Given the description of an element on the screen output the (x, y) to click on. 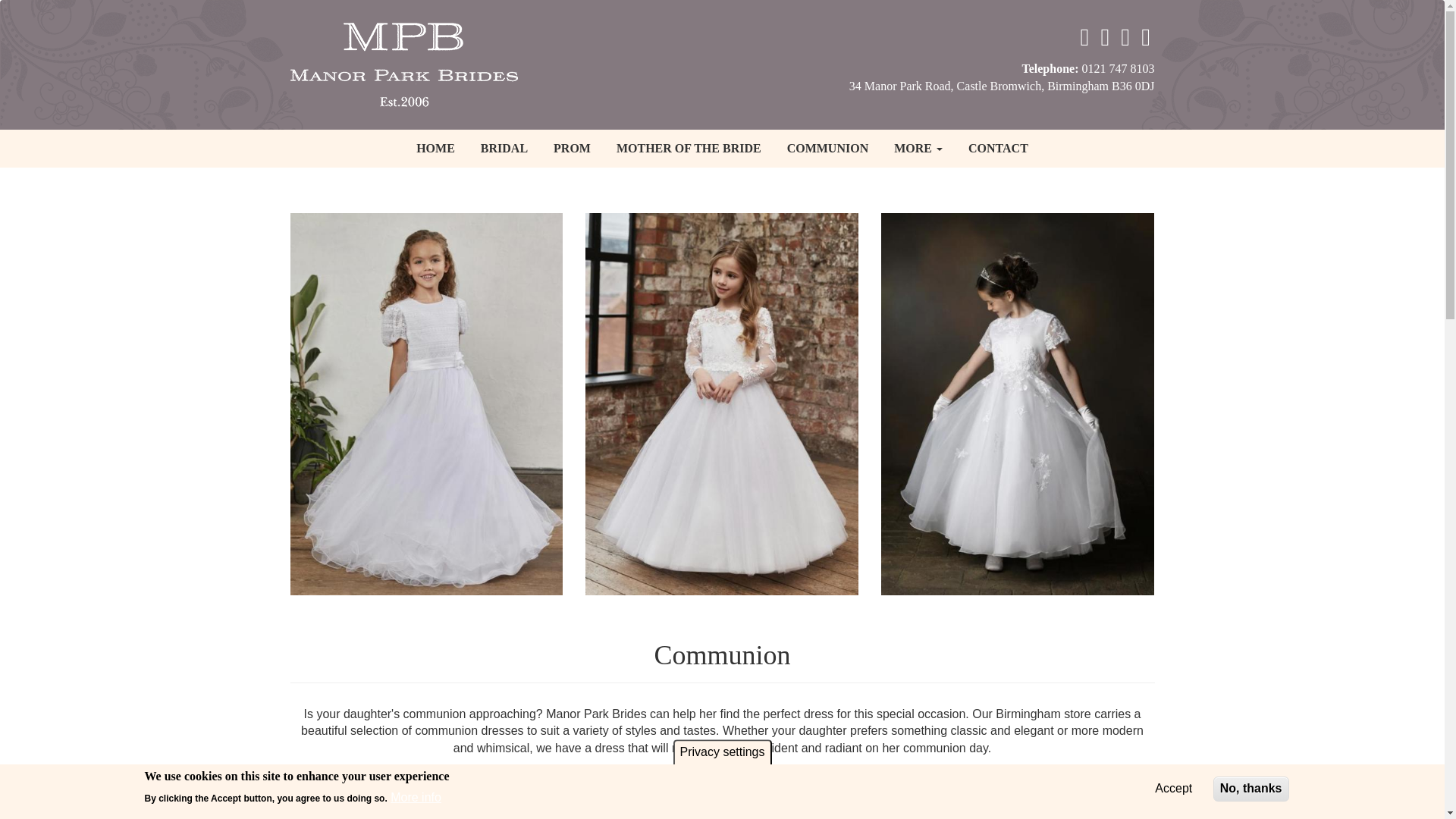
Accept (1173, 788)
No, thanks (1250, 788)
MORE (917, 148)
Home (408, 62)
COMMUNION (828, 148)
BRIDAL (503, 148)
Privacy settings (721, 751)
CONTACT (997, 148)
More info (415, 797)
MOTHER OF THE BRIDE (689, 148)
